Given the description of an element on the screen output the (x, y) to click on. 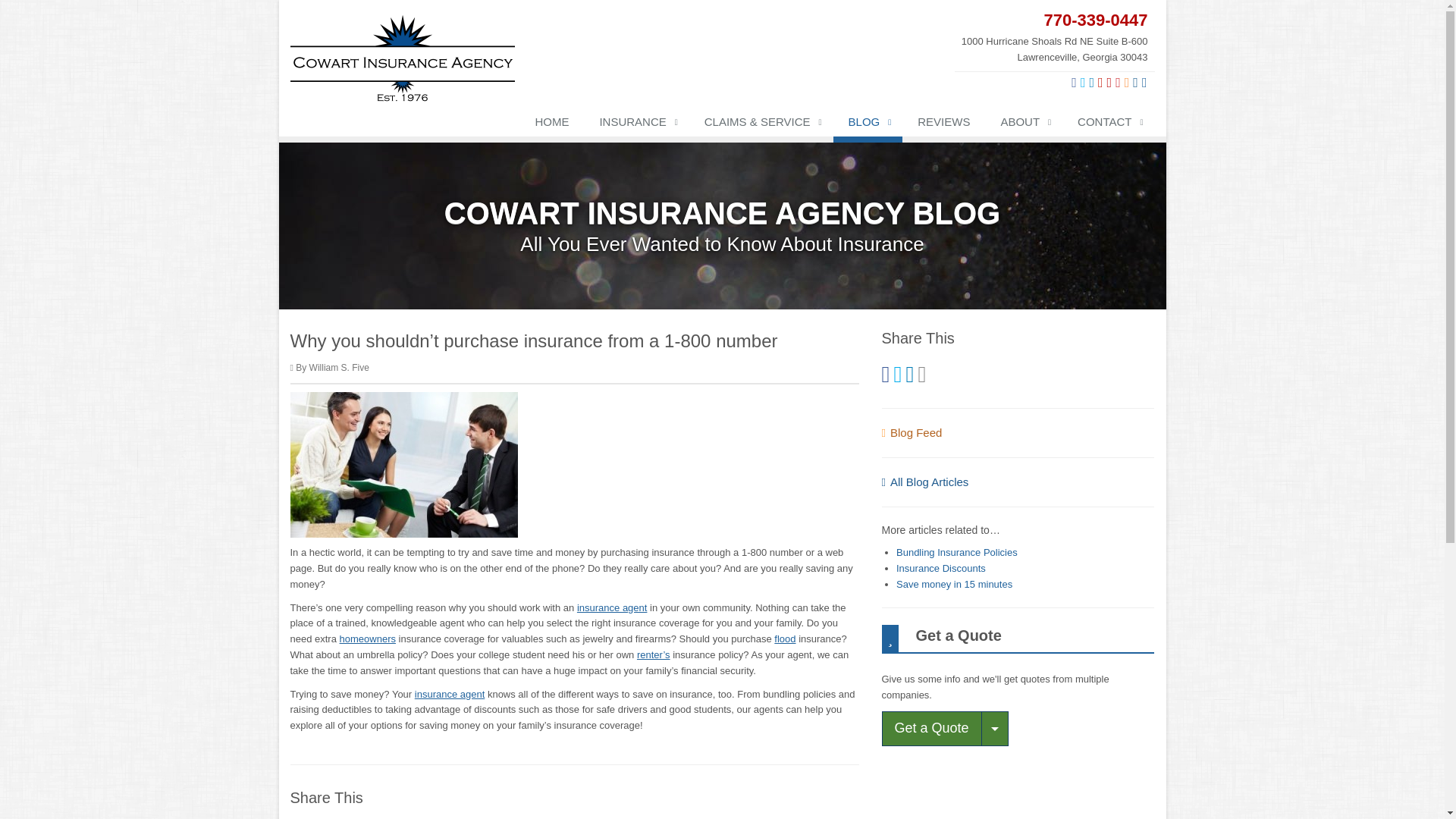
HOME (551, 124)
More Information on Renters Insurance (653, 654)
More about the Agents at Cowart Insurance (611, 607)
More Information on Flood Insurance (784, 638)
Additional Home Insurance Information (367, 638)
INSURANCE (635, 124)
What is the value of an Independent Insurance Agent? (449, 694)
